Given the description of an element on the screen output the (x, y) to click on. 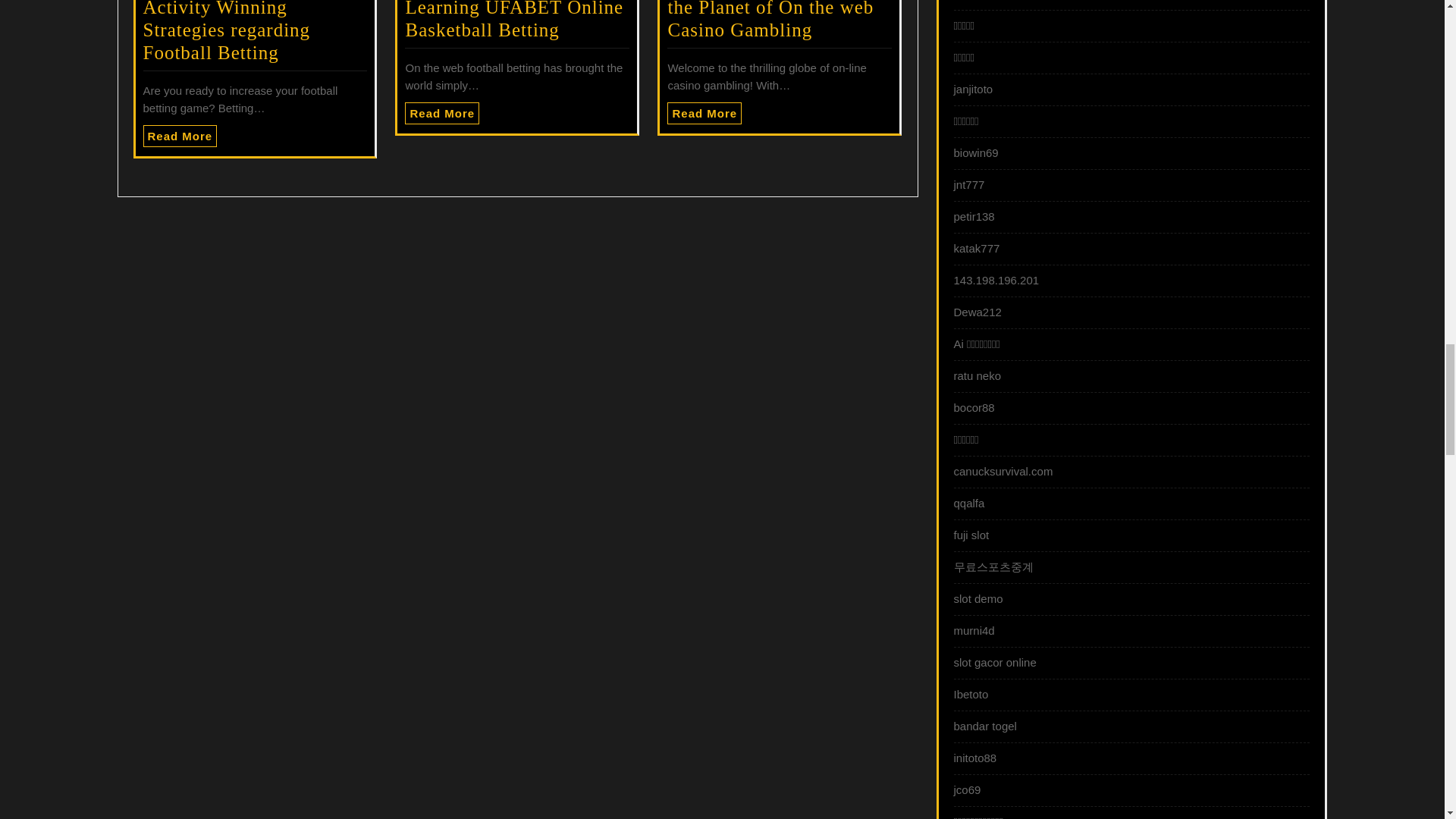
Read More (703, 113)
Read More (441, 113)
Read More (703, 113)
Read More (179, 136)
Read More (441, 113)
Read More (179, 136)
